Given the description of an element on the screen output the (x, y) to click on. 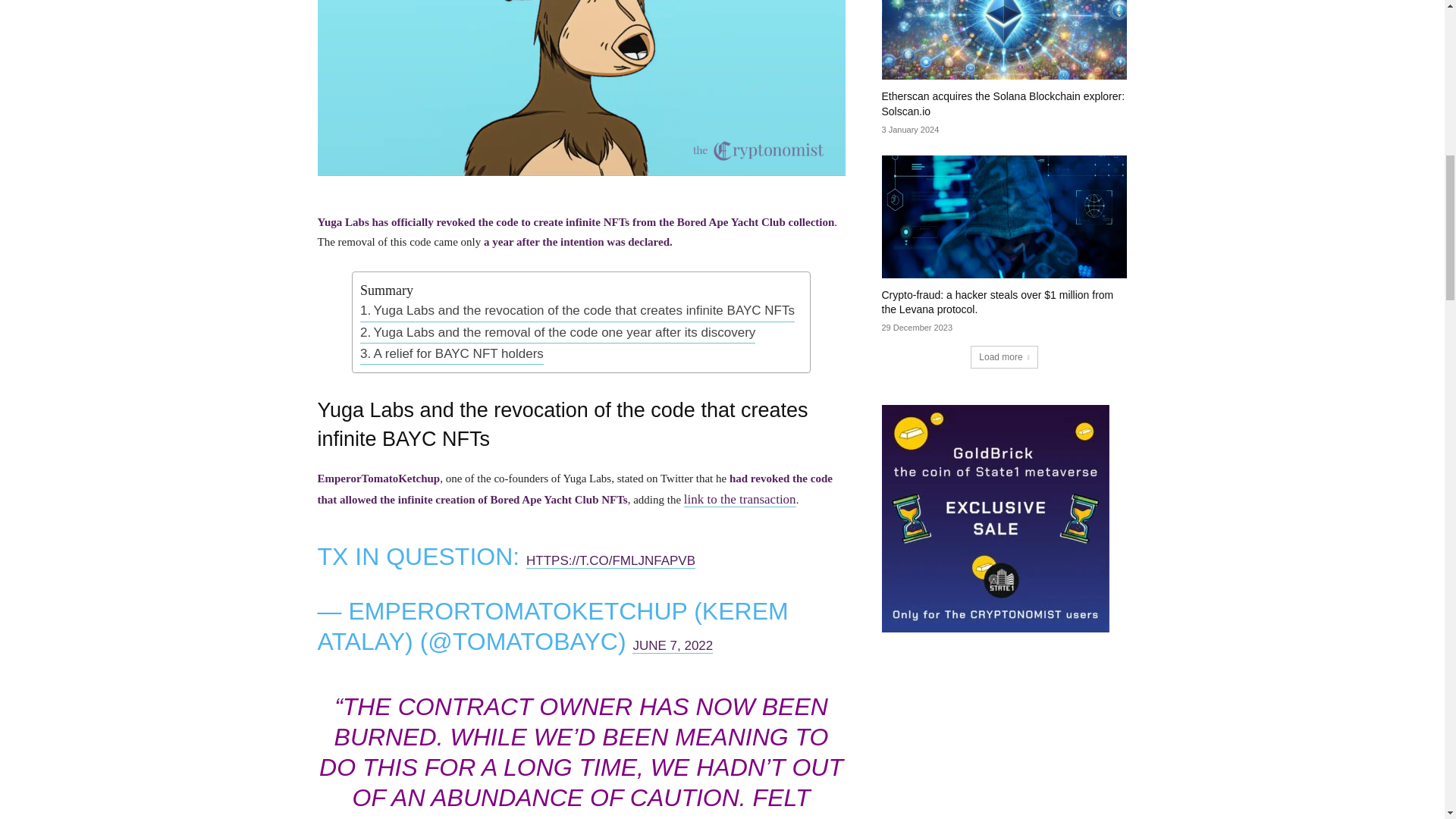
A relief for BAYC NFT holders (451, 353)
yuga labs codice (580, 88)
